Given the description of an element on the screen output the (x, y) to click on. 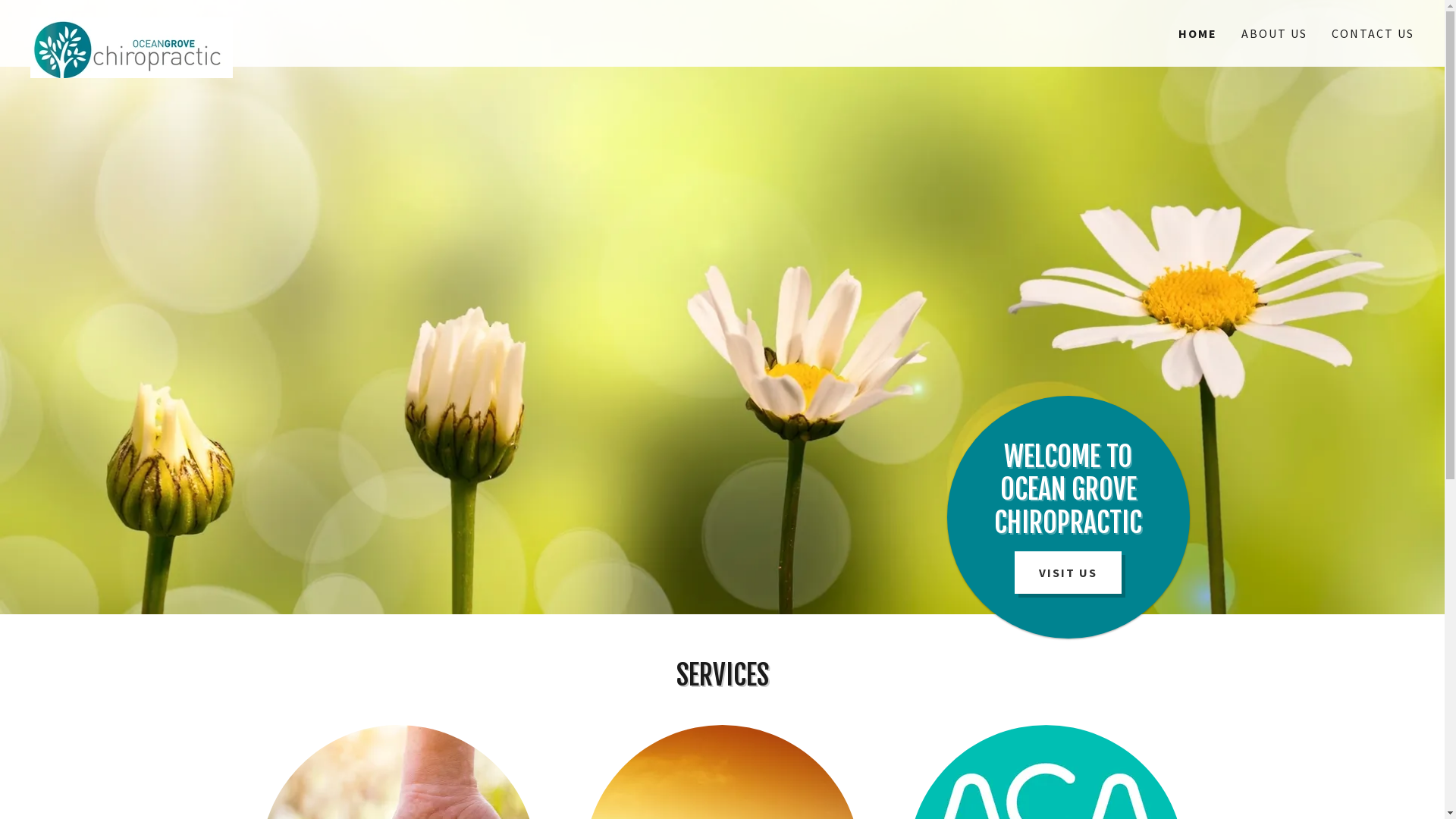
Ocean Grove Chiropractic Element type: hover (203, 24)
VISIT US Element type: text (1067, 572)
ABOUT US Element type: text (1273, 33)
HOME Element type: text (1197, 33)
CONTACT US Element type: text (1372, 33)
